Given the description of an element on the screen output the (x, y) to click on. 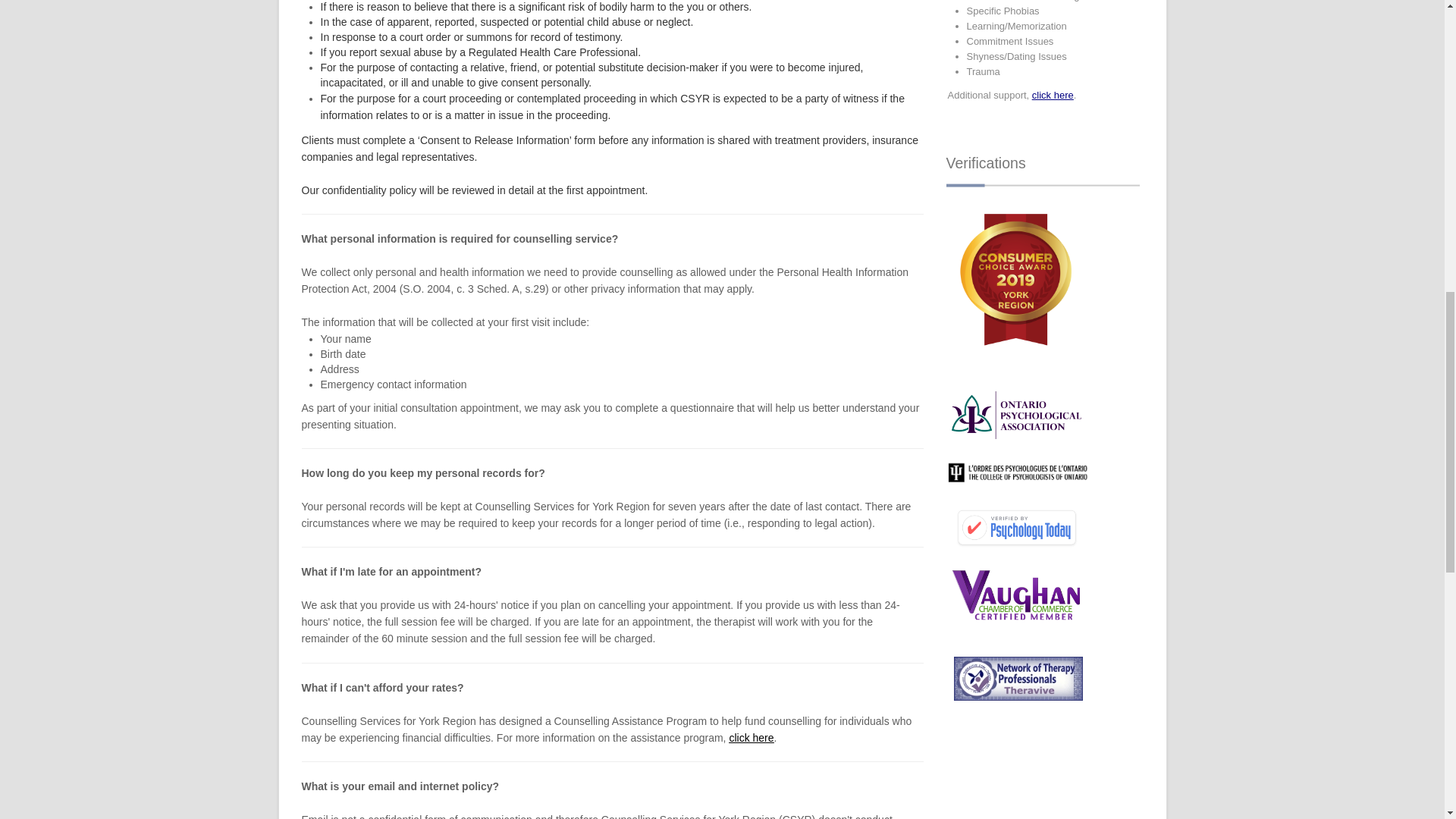
click here (1053, 94)
Counselling Services for York Region - Counsellor (1018, 677)
click here (751, 737)
